Given the description of an element on the screen output the (x, y) to click on. 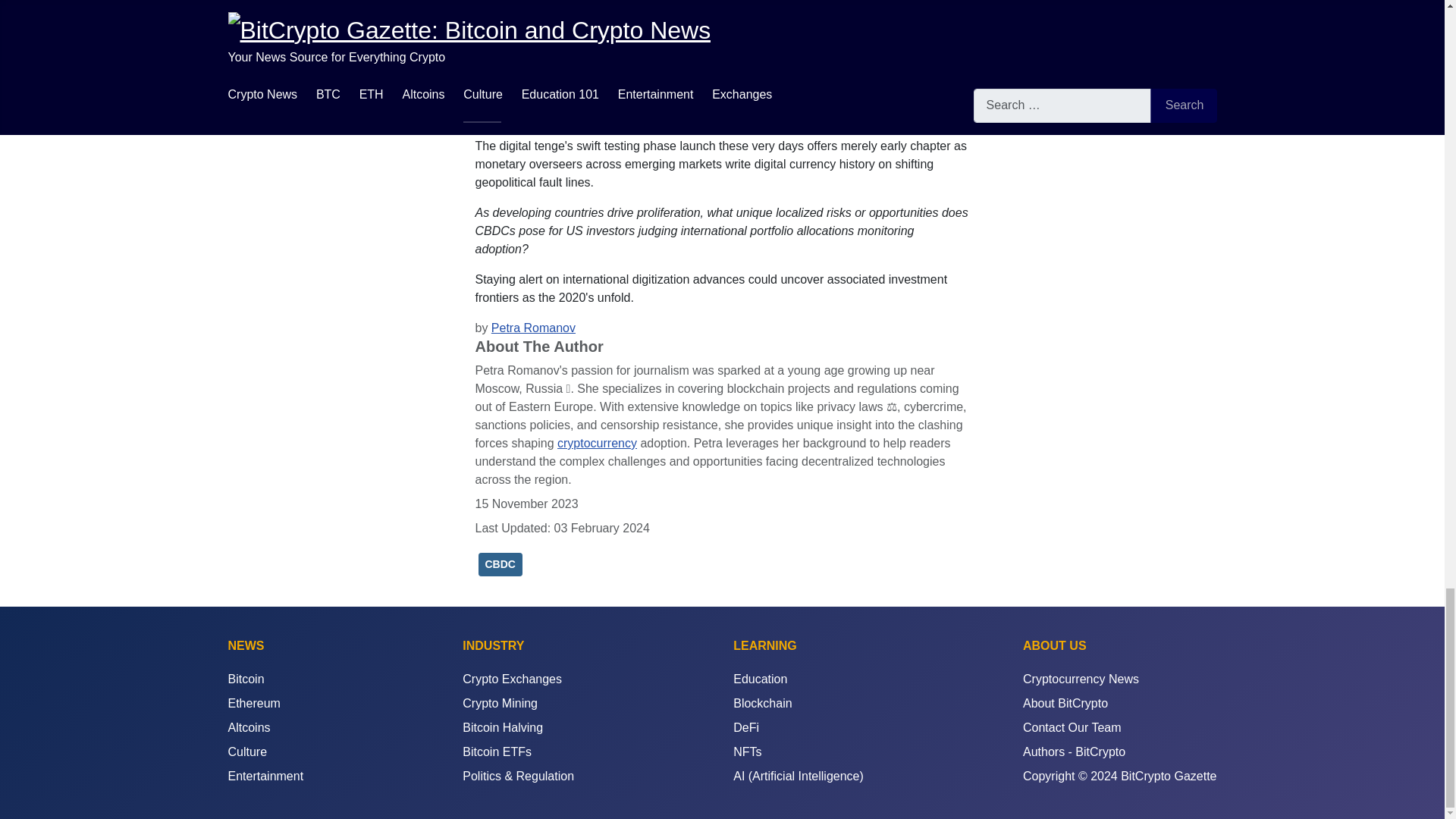
Petra Romanov (533, 327)
CBDC (499, 564)
cryptocurrency (597, 442)
